Given the description of an element on the screen output the (x, y) to click on. 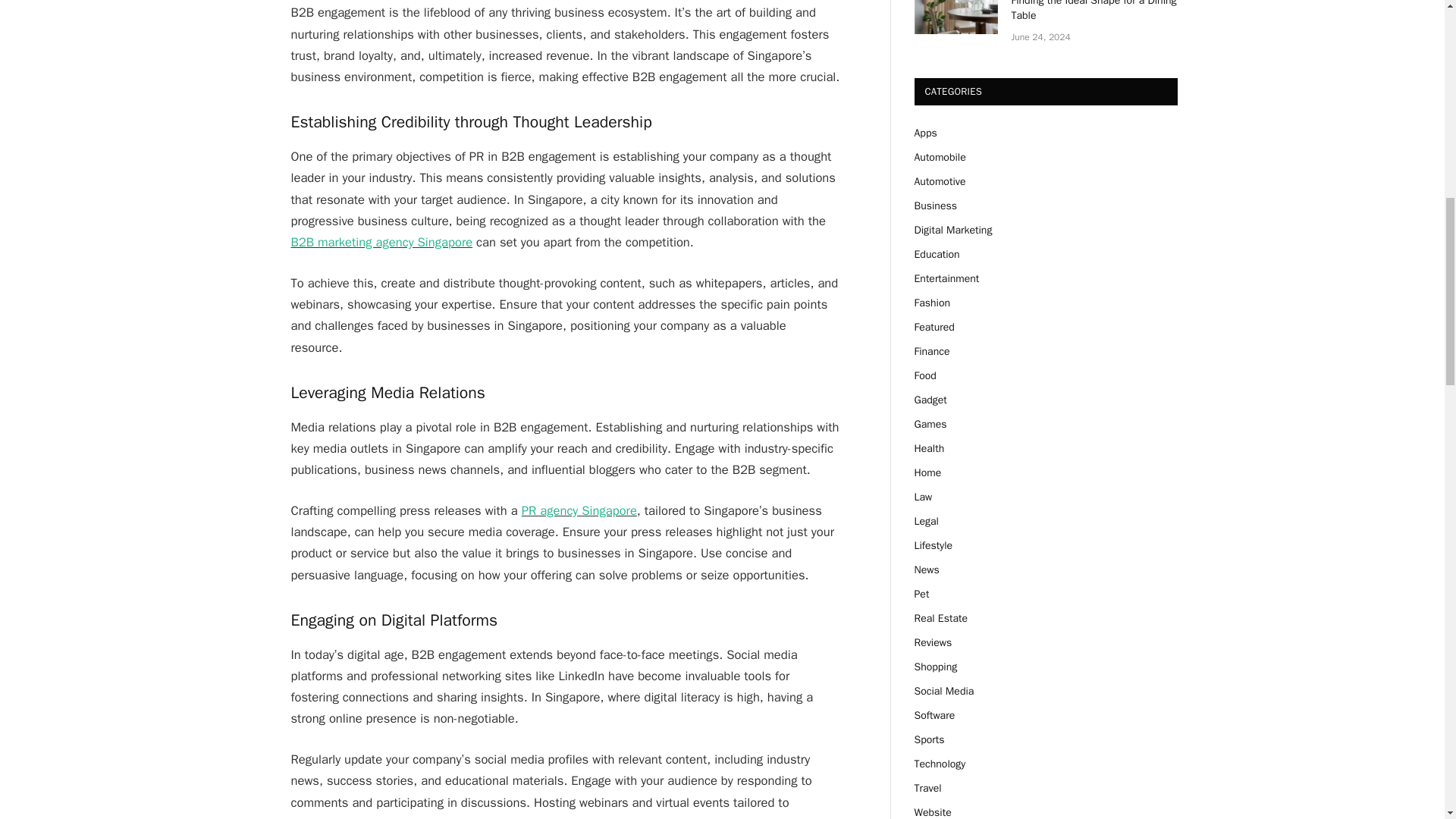
PR agency Singapore (579, 510)
B2B marketing agency Singapore (382, 242)
